Given the description of an element on the screen output the (x, y) to click on. 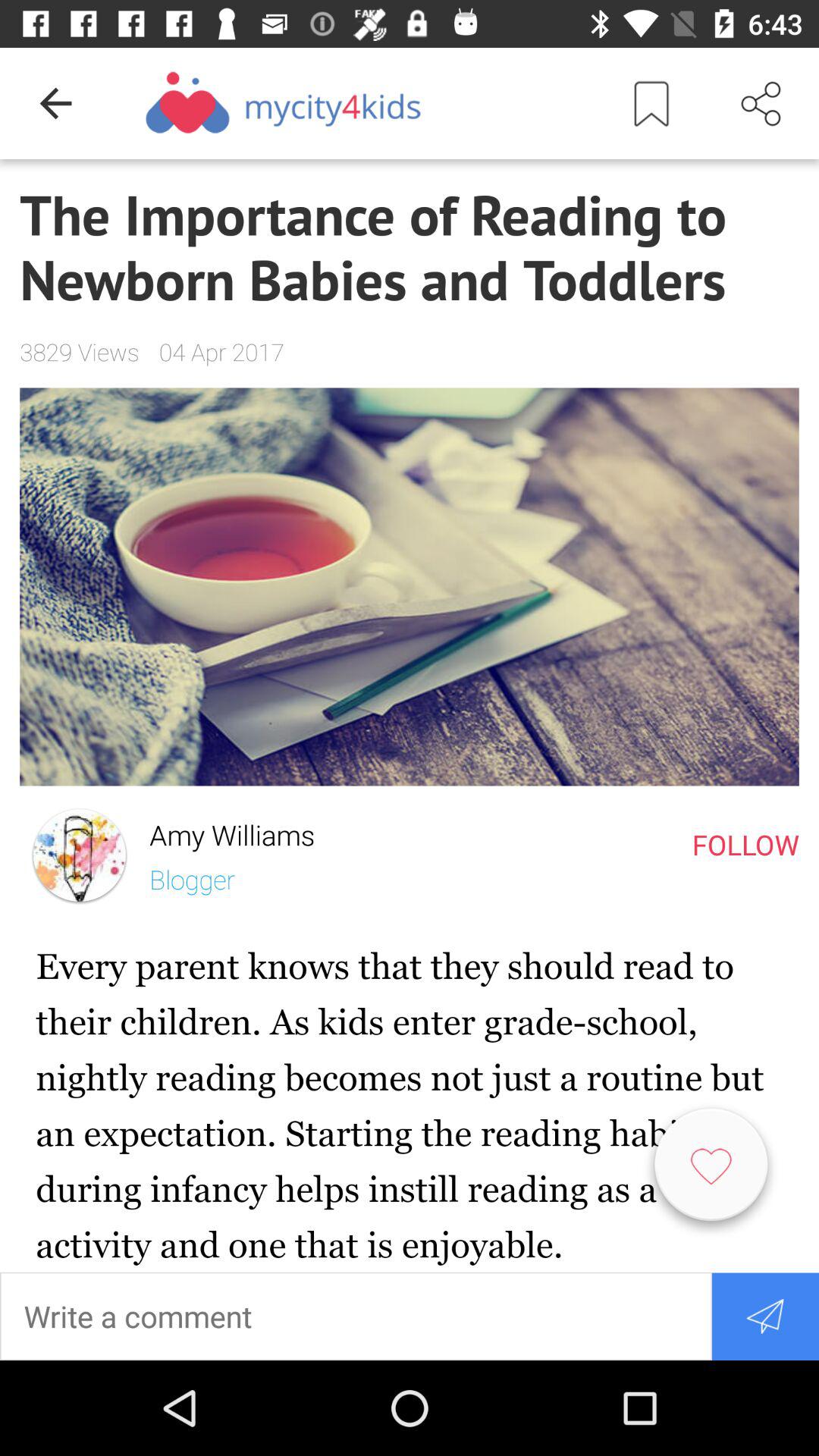
like article (710, 1170)
